Given the description of an element on the screen output the (x, y) to click on. 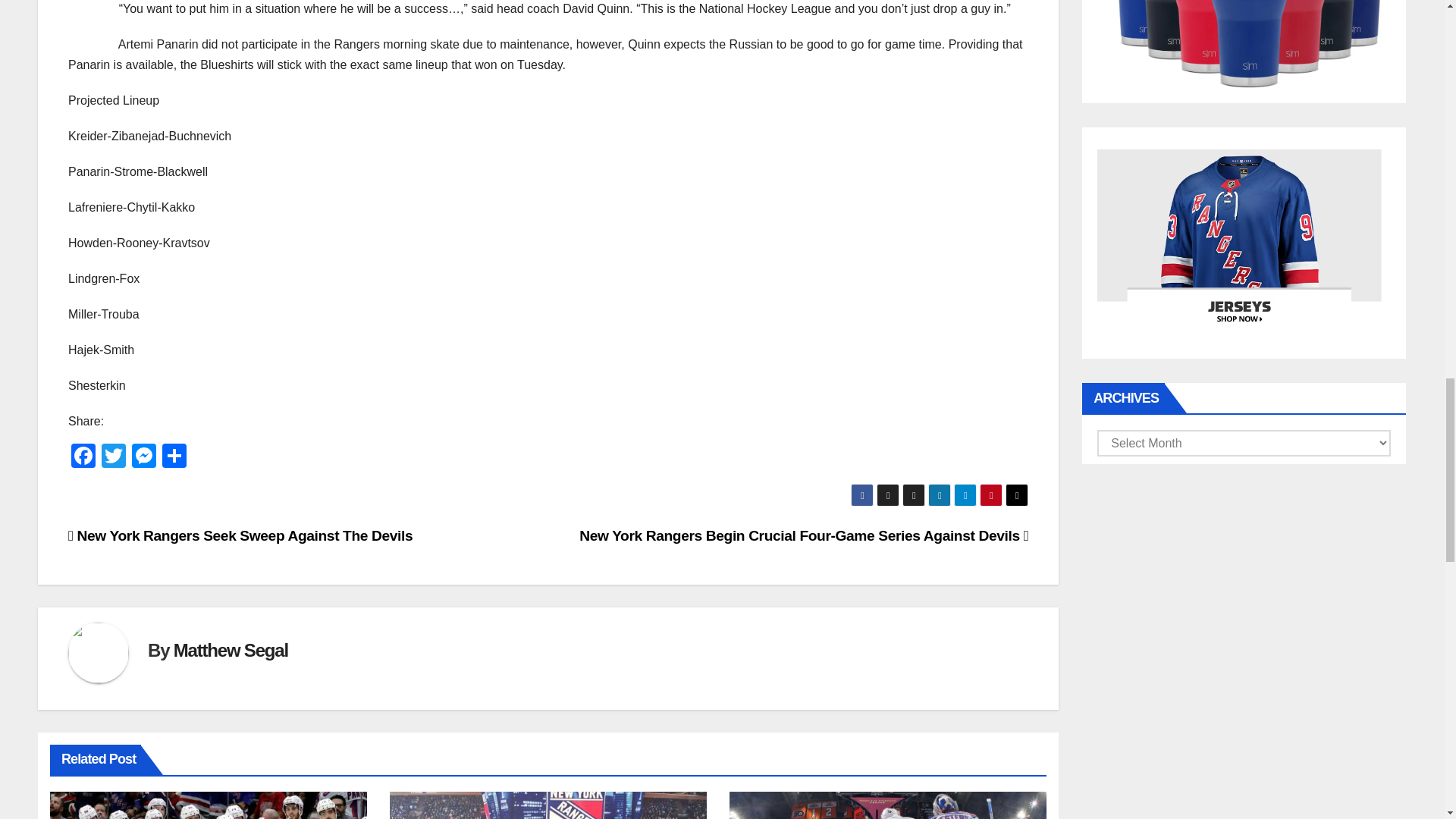
Messenger (143, 457)
Share (173, 457)
Facebook (83, 457)
Twitter (114, 457)
